Given the description of an element on the screen output the (x, y) to click on. 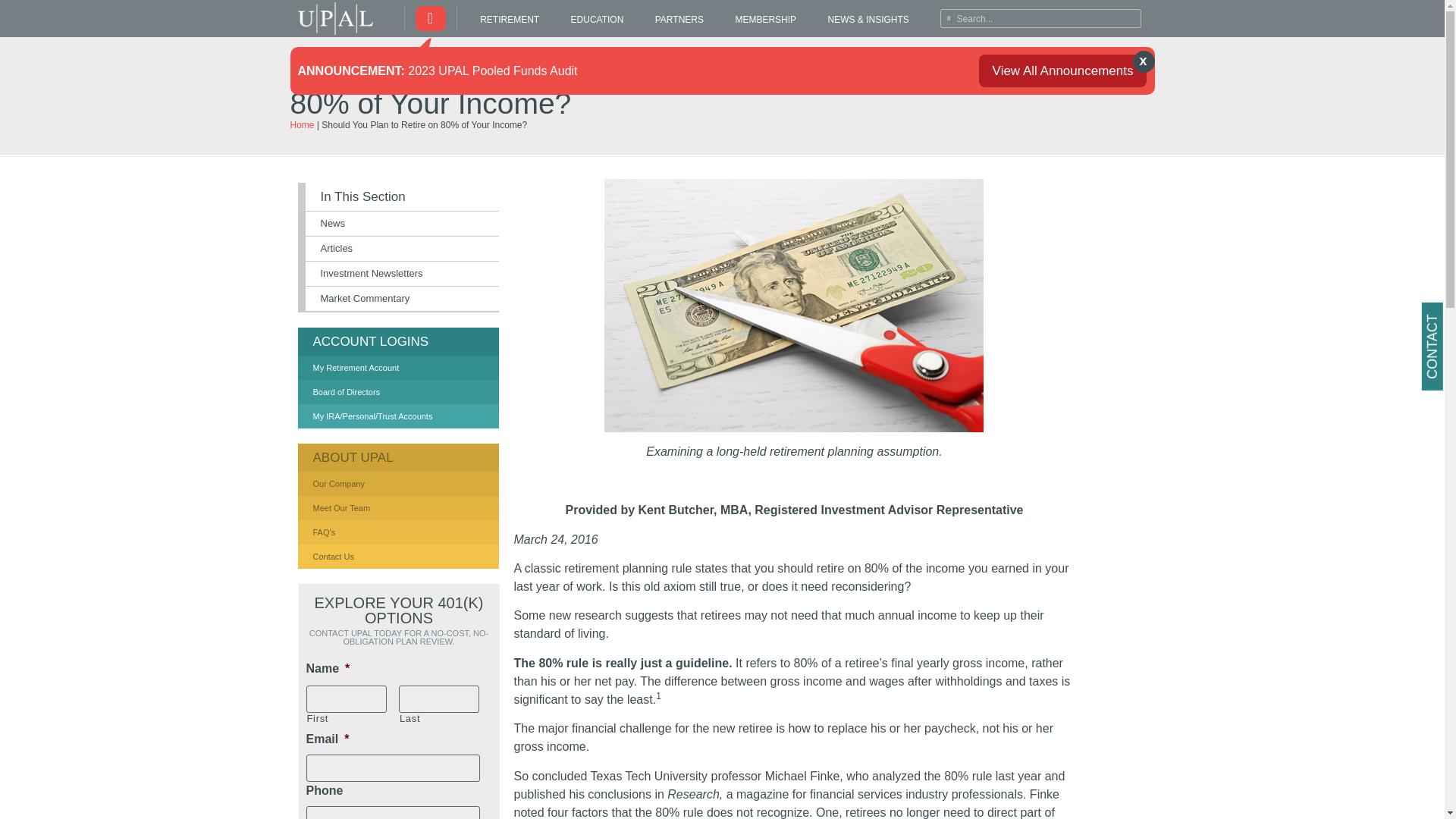
PARTNERS (679, 19)
RETIREMENT (509, 19)
MEMBERSHIP (765, 19)
EDUCATION (596, 19)
2023 UPAL Pooled Funds Audit (491, 69)
